Given the description of an element on the screen output the (x, y) to click on. 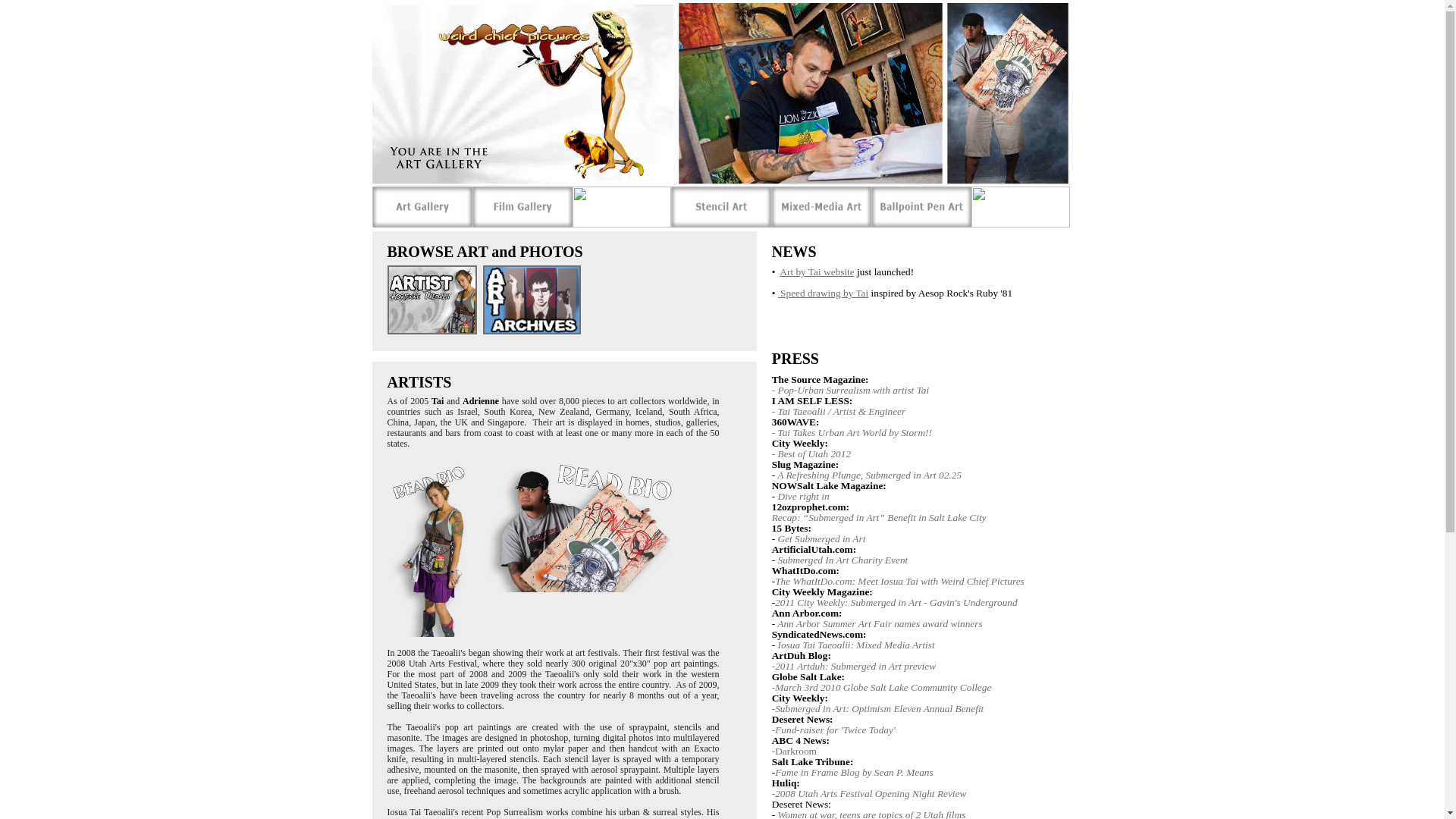
arch 3rd 2010 Globe Salt Lake Community College (887, 686)
-2011 (801, 671)
Adrienne (481, 400)
Art by Tai website (815, 271)
- Tai Takes Urban Art World by Storm!! (851, 432)
Artduh: Submerged in Art preview (866, 665)
2011 City Weekly: Submerged in Art - Gavin's Underground (895, 602)
-M (777, 686)
Iosua Tai Taeoalii: Mixed Media Artist (855, 644)
Dive right in (803, 496)
